Given the description of an element on the screen output the (x, y) to click on. 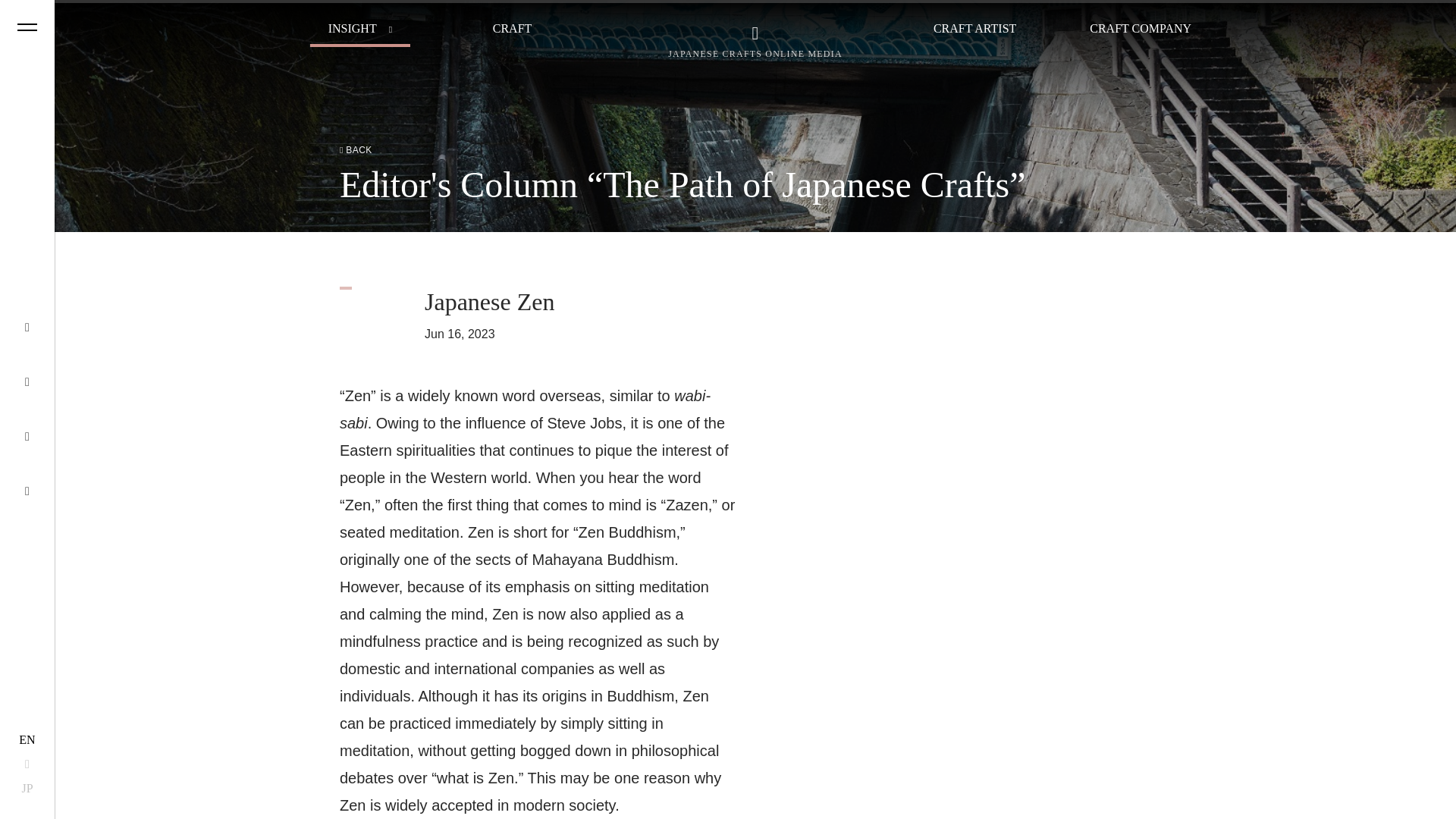
JAPANESE CRAFTS ONLINE MEDIA (755, 41)
CRAFT ARTIST (974, 28)
CRAFT COMPANY (1139, 28)
EN (27, 739)
CRAFT (512, 28)
JP (27, 788)
INSIGHT (351, 28)
